Given the description of an element on the screen output the (x, y) to click on. 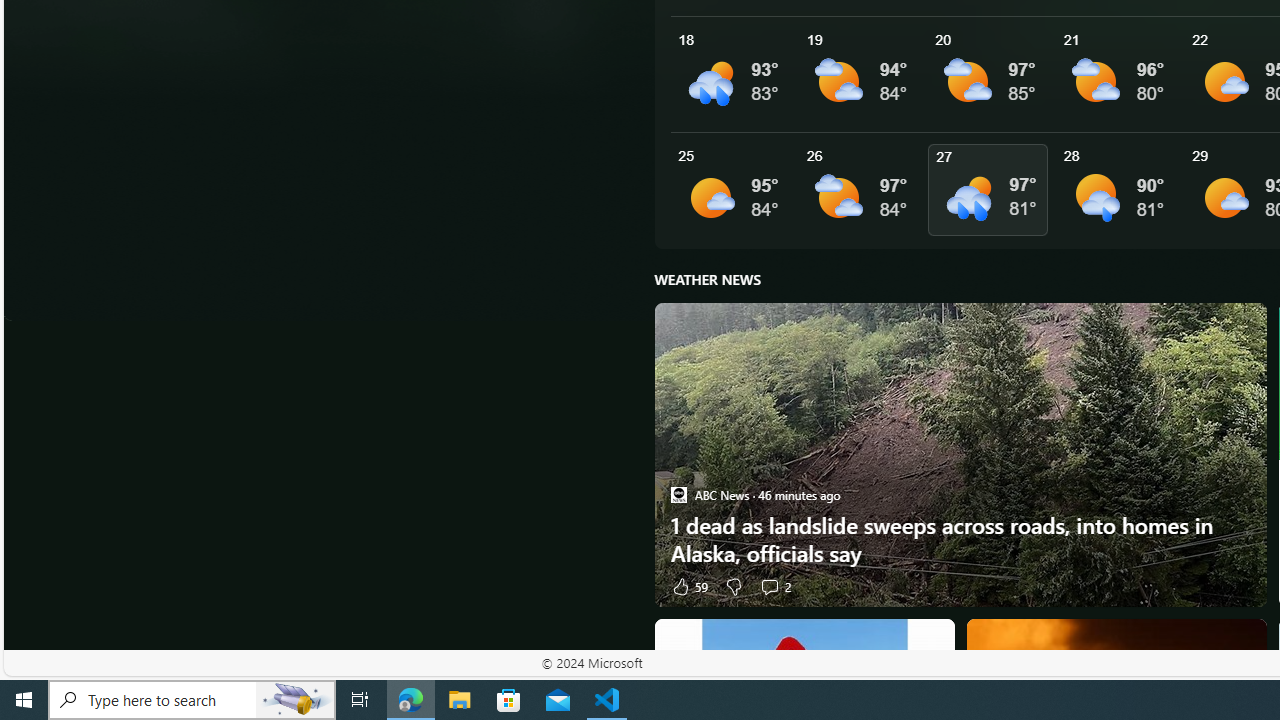
See More Details (1120, 190)
View comments 2 Comment (774, 586)
